Given the description of an element on the screen output the (x, y) to click on. 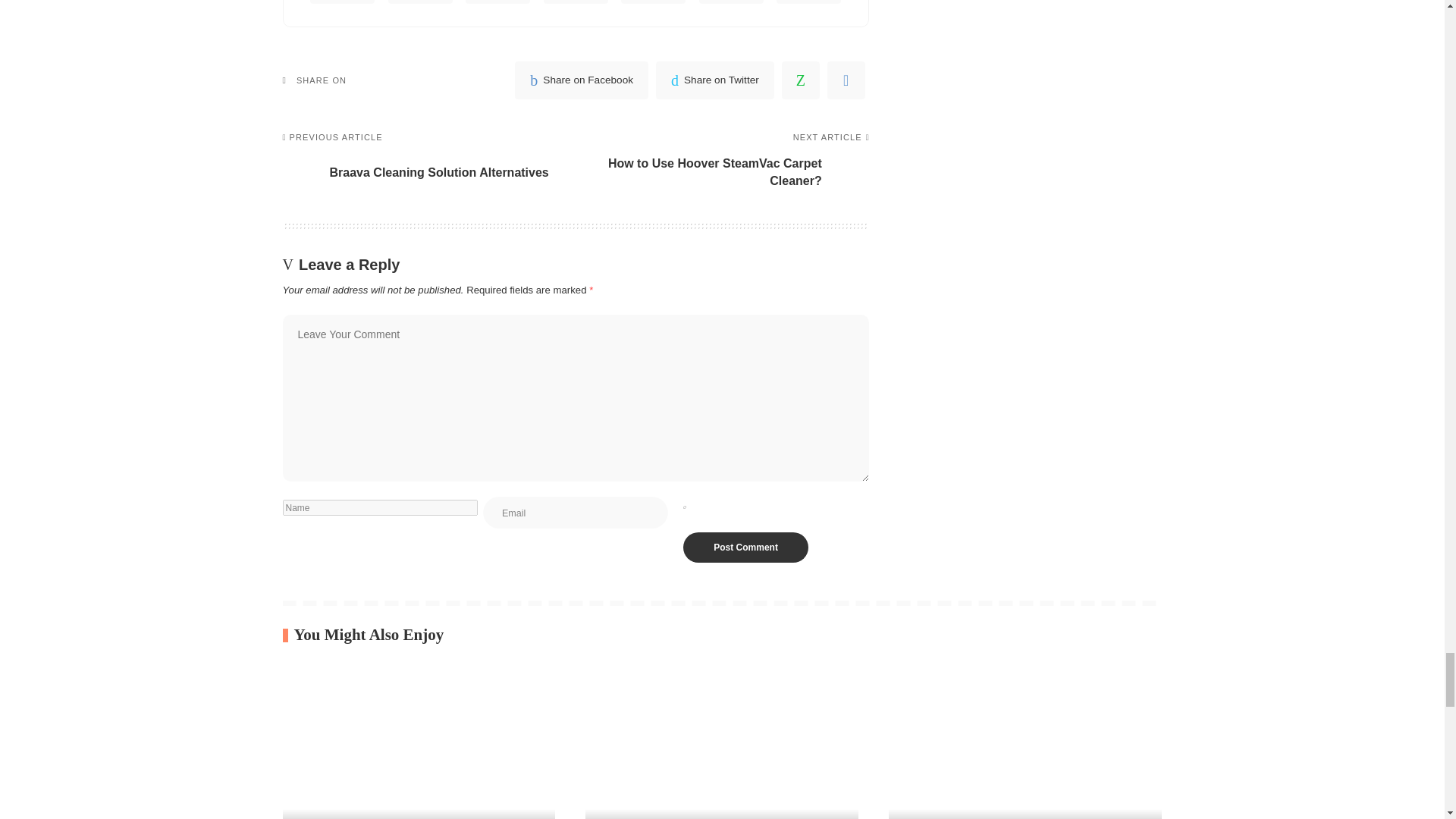
Post Comment (745, 547)
